Given the description of an element on the screen output the (x, y) to click on. 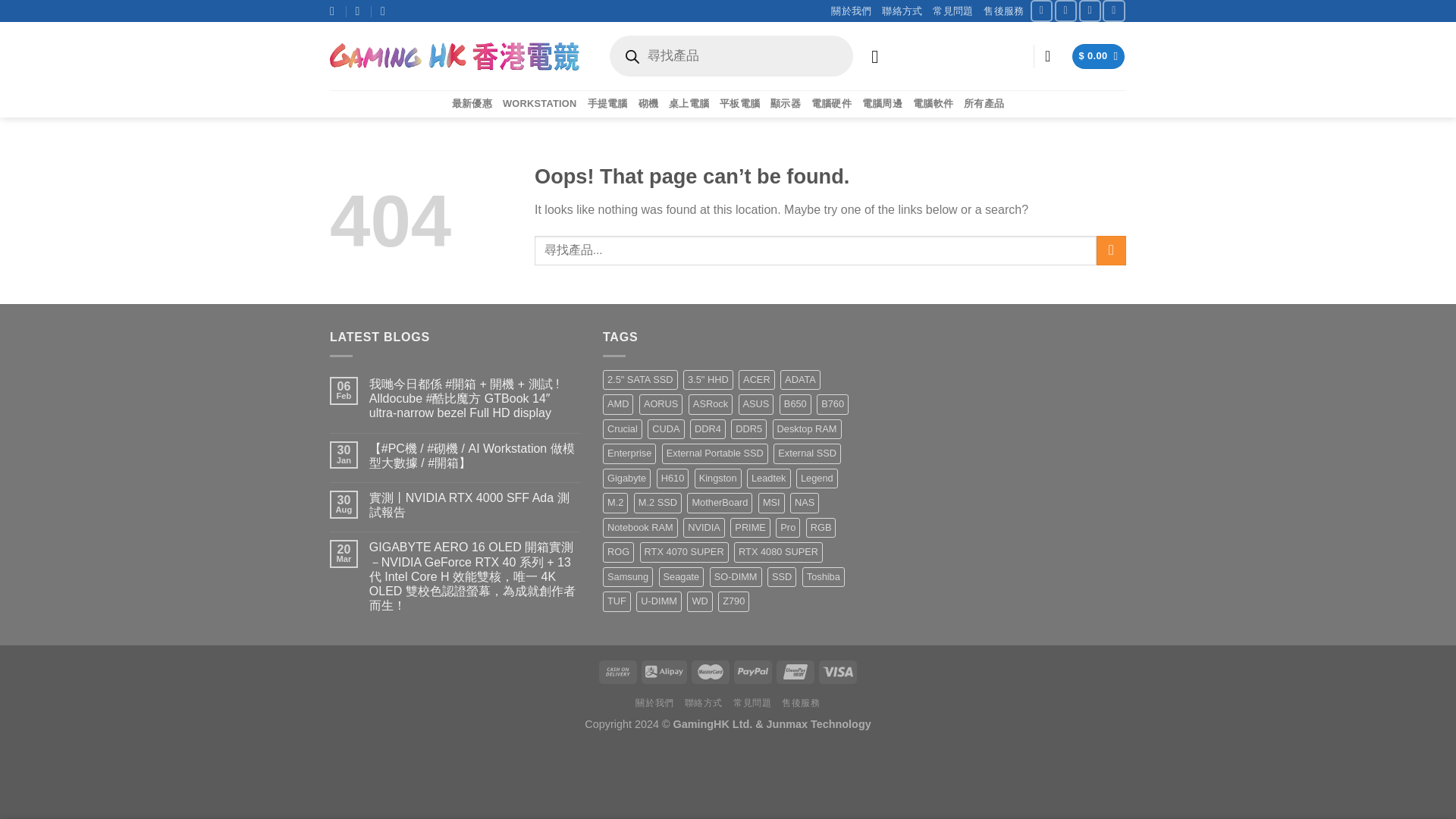
WORKSTATION (539, 103)
Send us an email (1089, 11)
Follow on Instagram (1065, 11)
Cart (1098, 56)
Follow on YouTube (1113, 11)
Follow on Facebook (1041, 11)
